Given the description of an element on the screen output the (x, y) to click on. 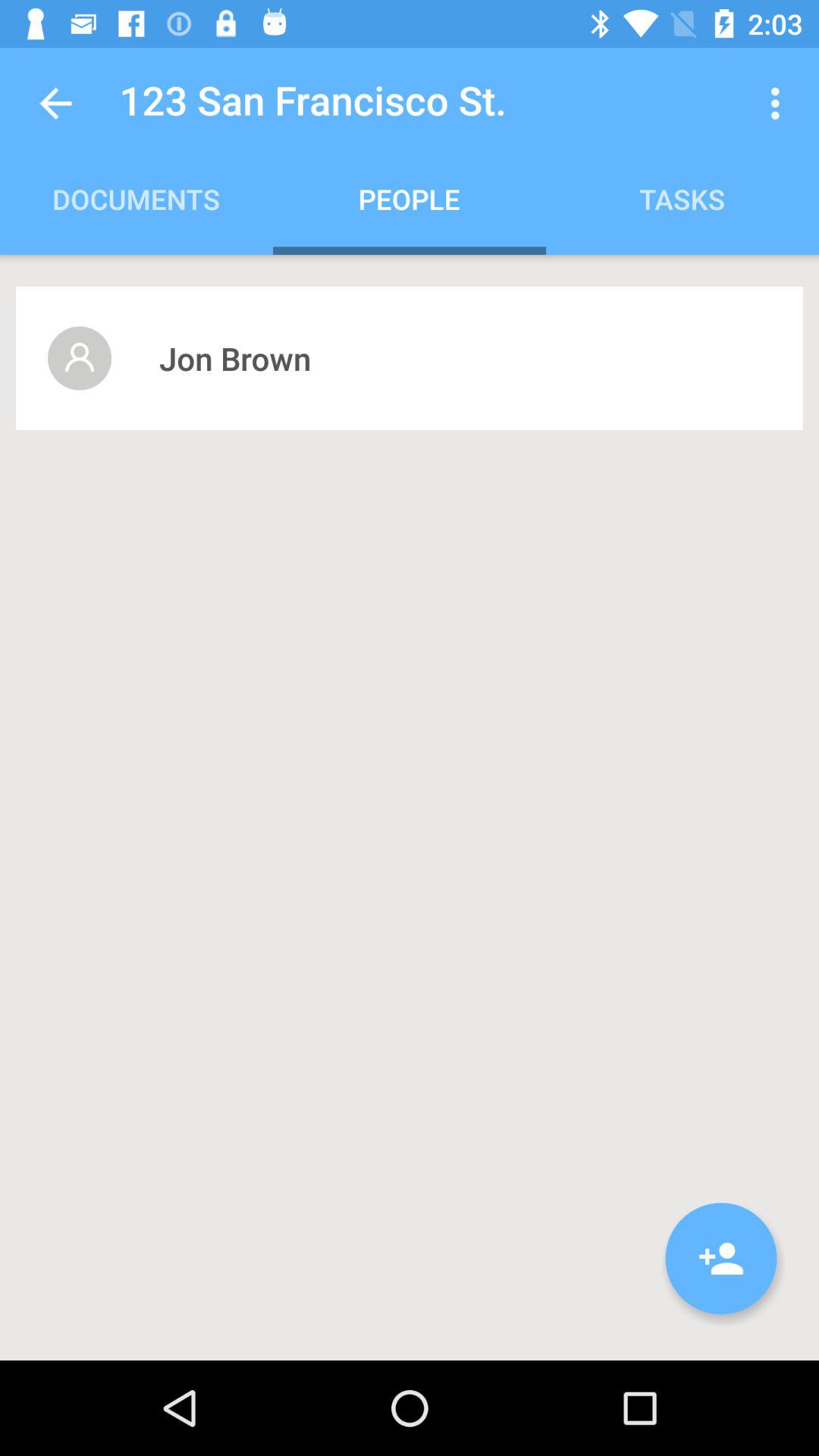
launch icon next to the 123 san francisco icon (55, 103)
